Given the description of an element on the screen output the (x, y) to click on. 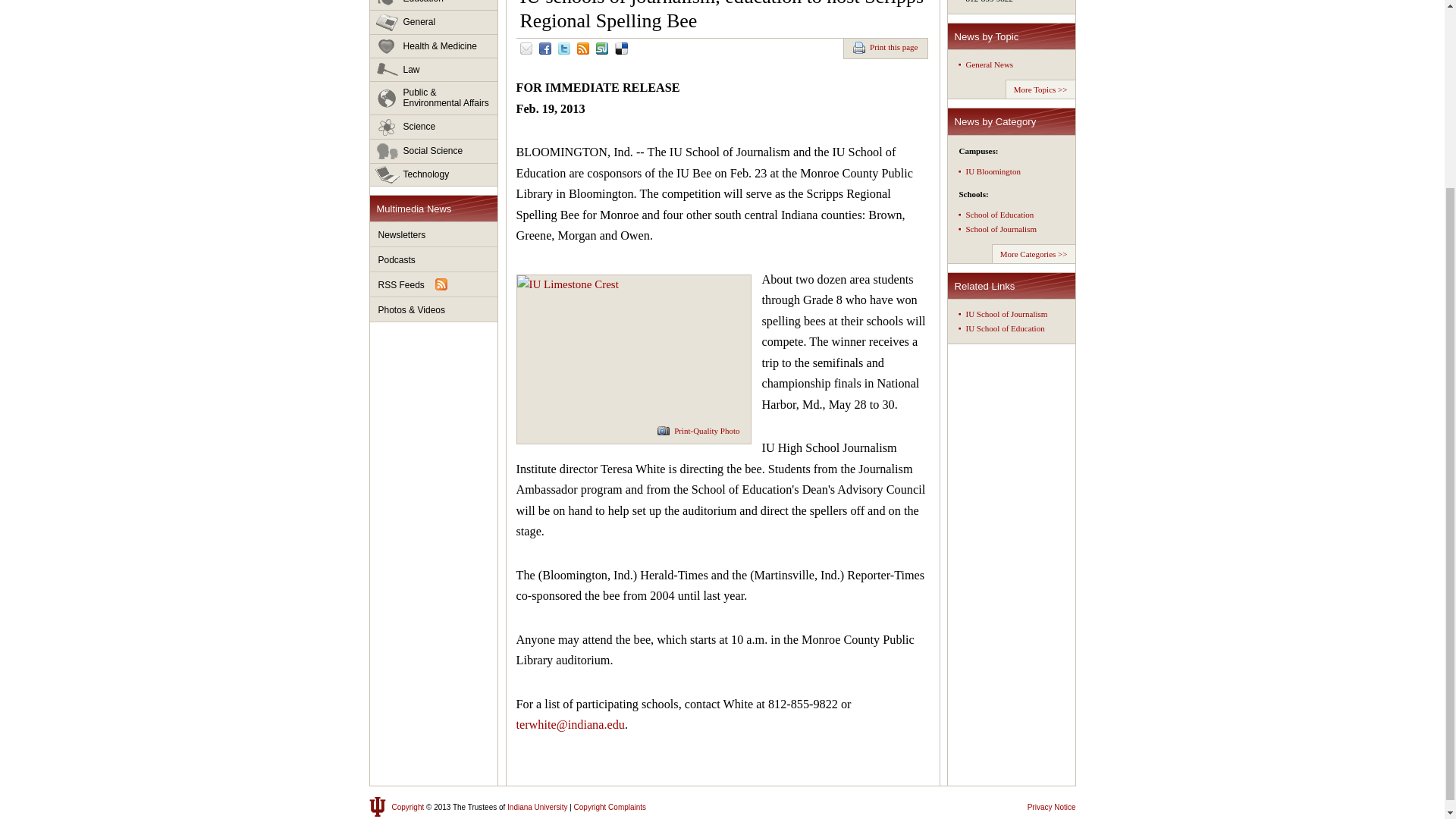
General (433, 22)
Newsletters (433, 234)
Science (433, 127)
Technology (433, 174)
Podcasts (433, 259)
Education (433, 5)
Law (433, 69)
General (433, 22)
Education (433, 5)
Social Science (433, 151)
RSS Feeds (433, 284)
